Given the description of an element on the screen output the (x, y) to click on. 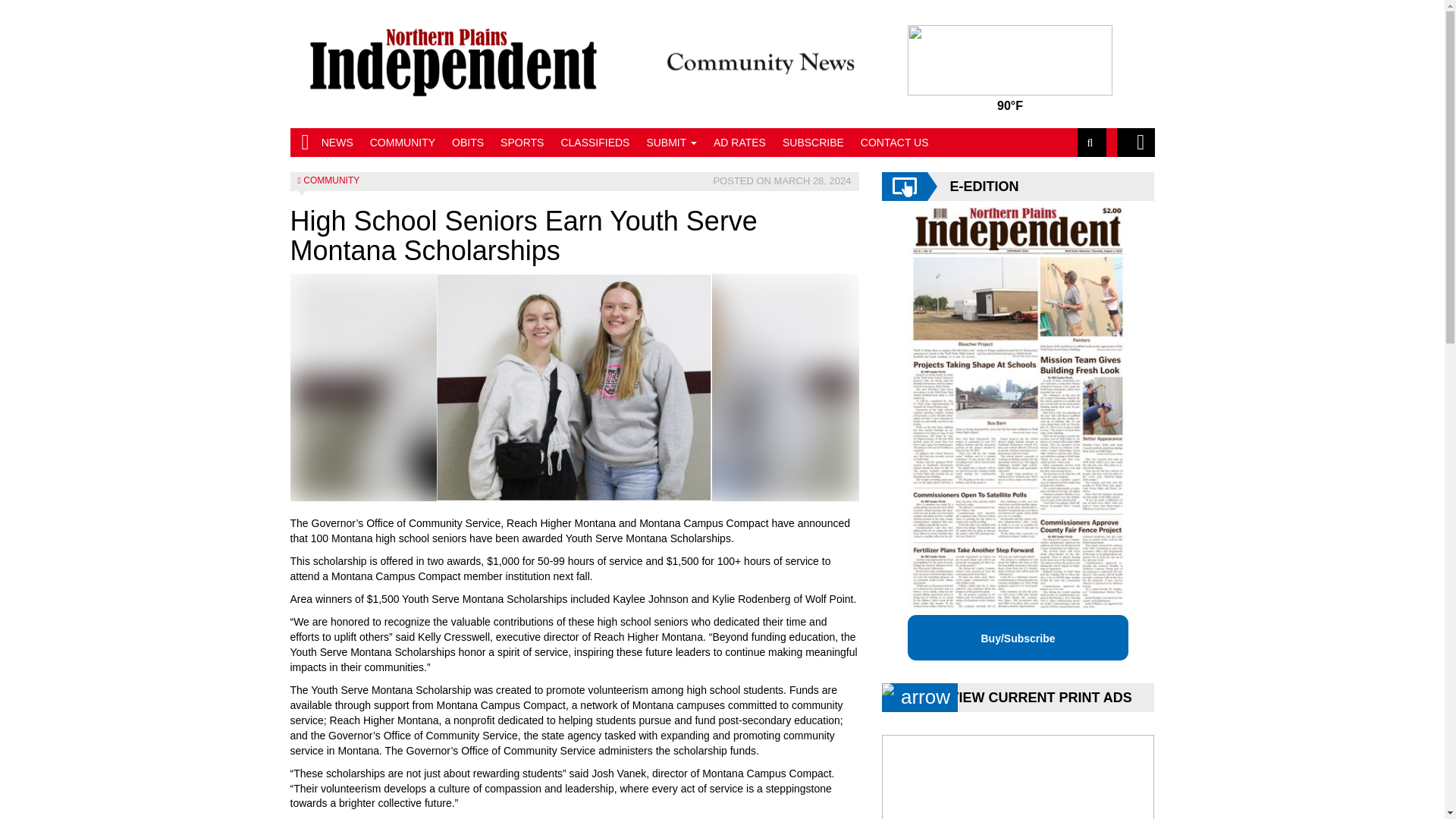
OBITS (468, 142)
CONTACT US (894, 142)
Submit (670, 142)
CLASSIFIEDS (594, 142)
SUBSCRIBE (812, 142)
SUBMIT (670, 142)
Classifieds (594, 142)
Subscribe (812, 142)
COMMUNITY (402, 142)
NEWS (337, 142)
